Given the description of an element on the screen output the (x, y) to click on. 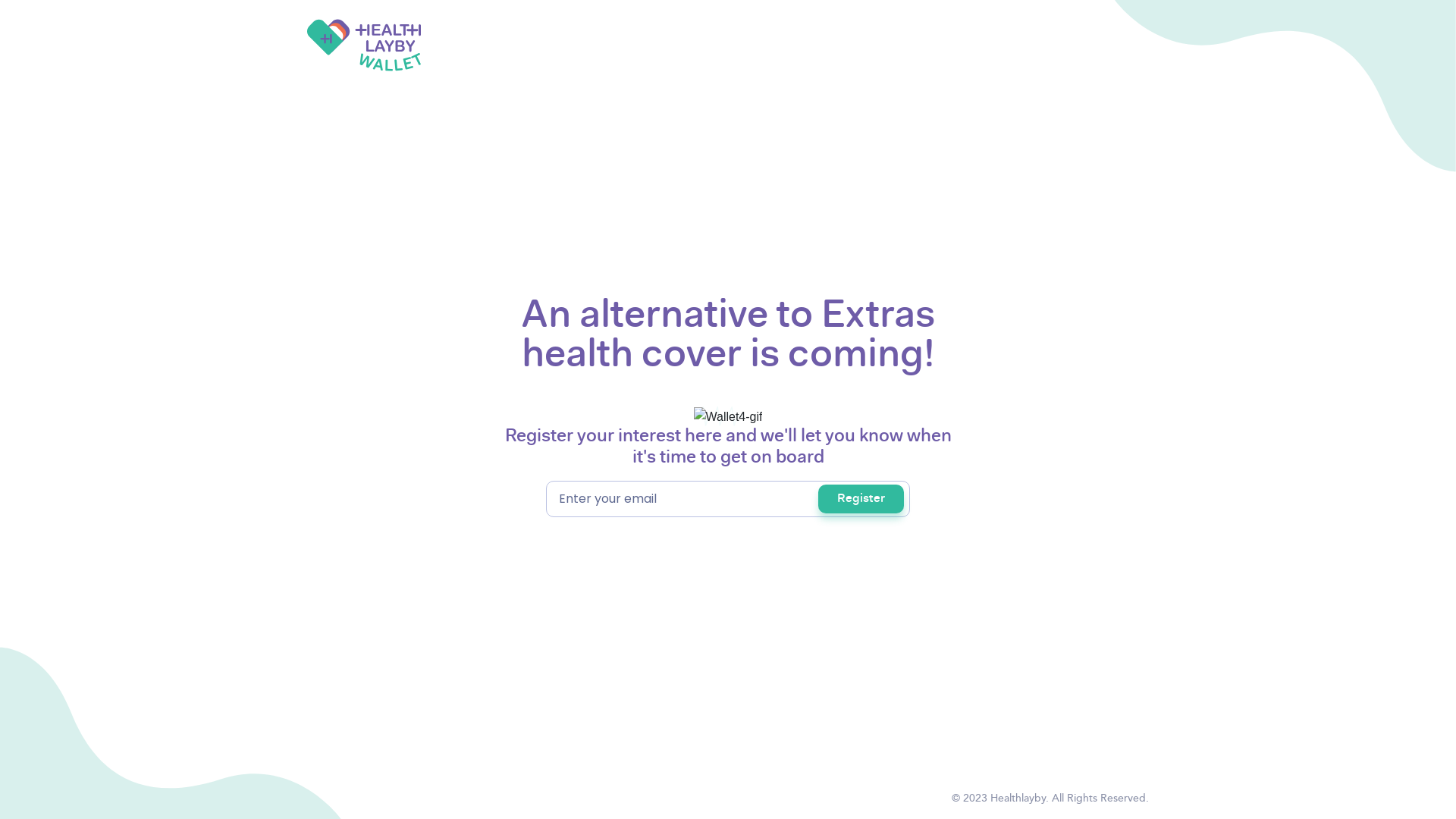
Register Element type: text (860, 498)
